Given the description of an element on the screen output the (x, y) to click on. 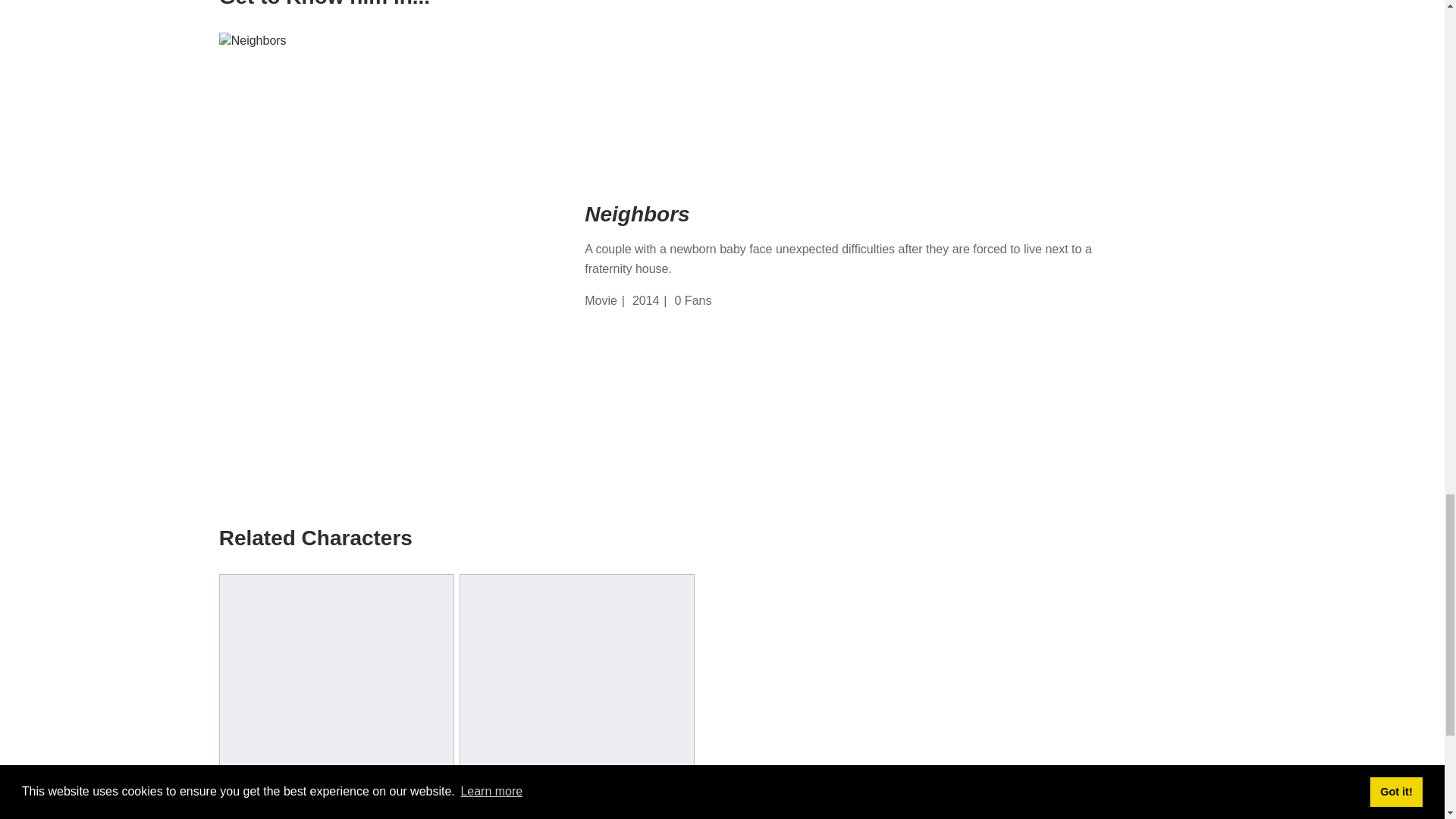
Neighbors (882, 213)
